Given the description of an element on the screen output the (x, y) to click on. 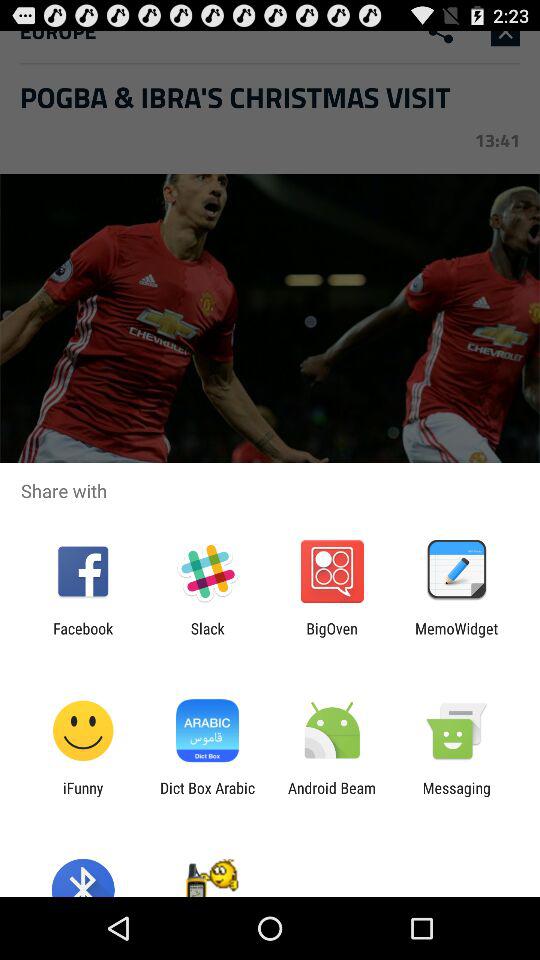
turn on the item next to the memowidget (331, 637)
